Given the description of an element on the screen output the (x, y) to click on. 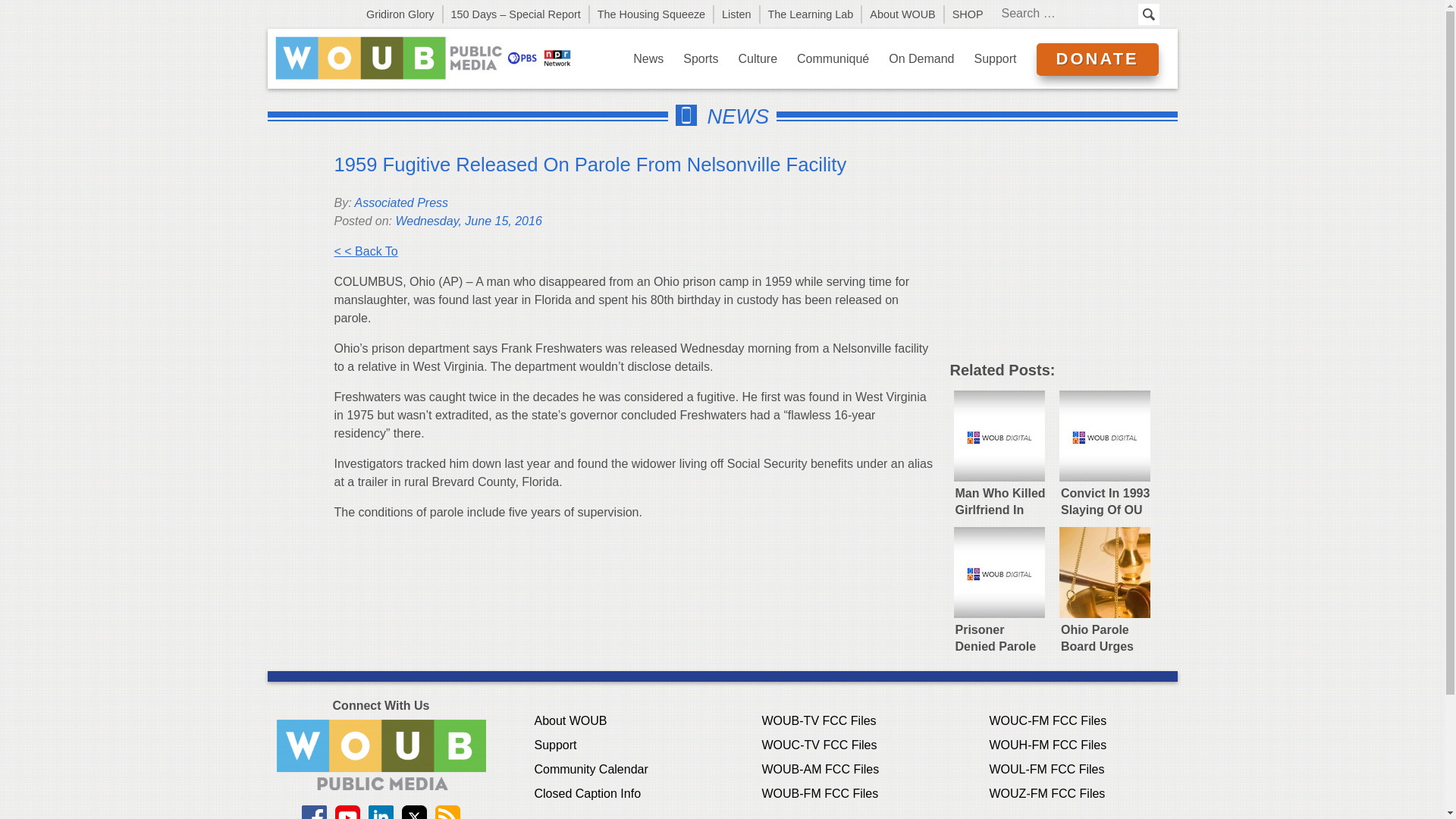
About WOUB (902, 13)
Support (994, 58)
sports (700, 58)
Sports (700, 58)
Wednesday, June 15, 2016 (467, 220)
DONATE (1096, 59)
3rd party ad content (1062, 253)
On Demand (921, 58)
Gridiron Glory (401, 13)
culture (757, 58)
